Given the description of an element on the screen output the (x, y) to click on. 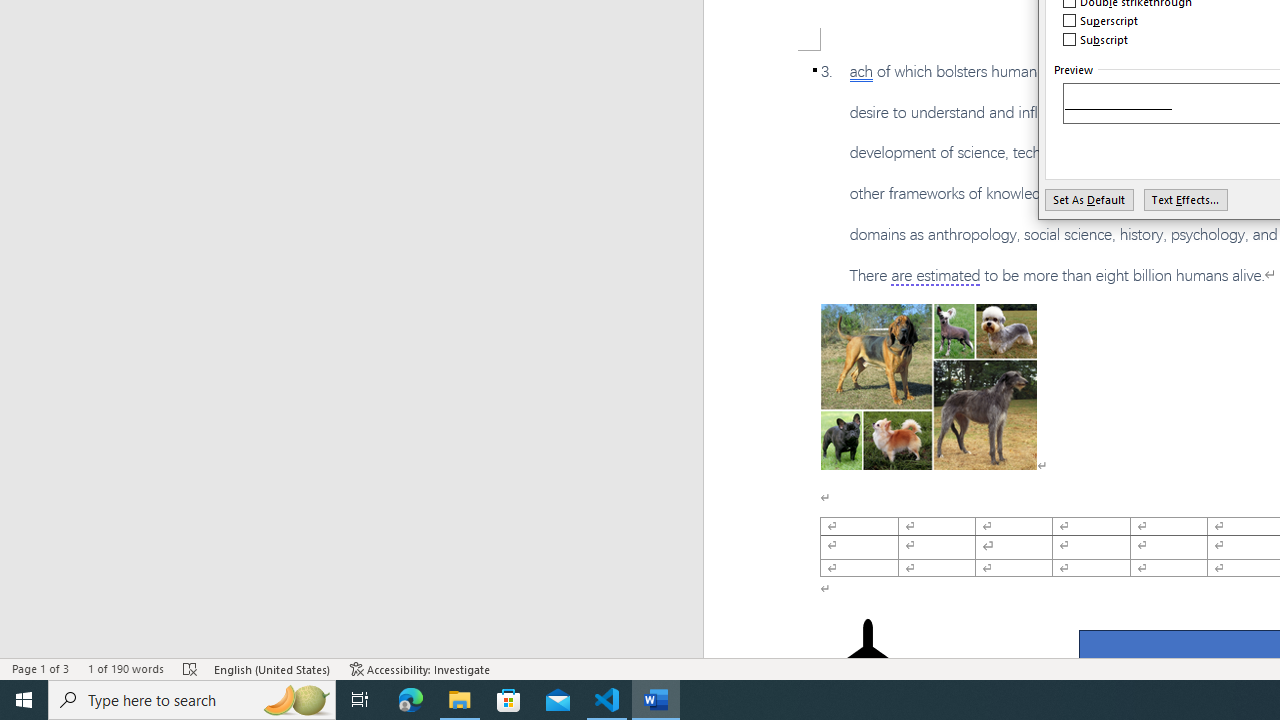
Page Number Page 1 of 3 (39, 668)
Microsoft Edge (411, 699)
Superscript (1101, 20)
Task View (359, 699)
Accessibility Checker Accessibility: Investigate (420, 668)
Search highlights icon opens search home window (295, 699)
Visual Studio Code - 1 running window (607, 699)
Text Effects... (1185, 199)
Set As Default (1089, 199)
File Explorer - 1 running window (460, 699)
Subscript (1096, 39)
Type here to search (191, 699)
Language English (United States) (273, 668)
